Given the description of an element on the screen output the (x, y) to click on. 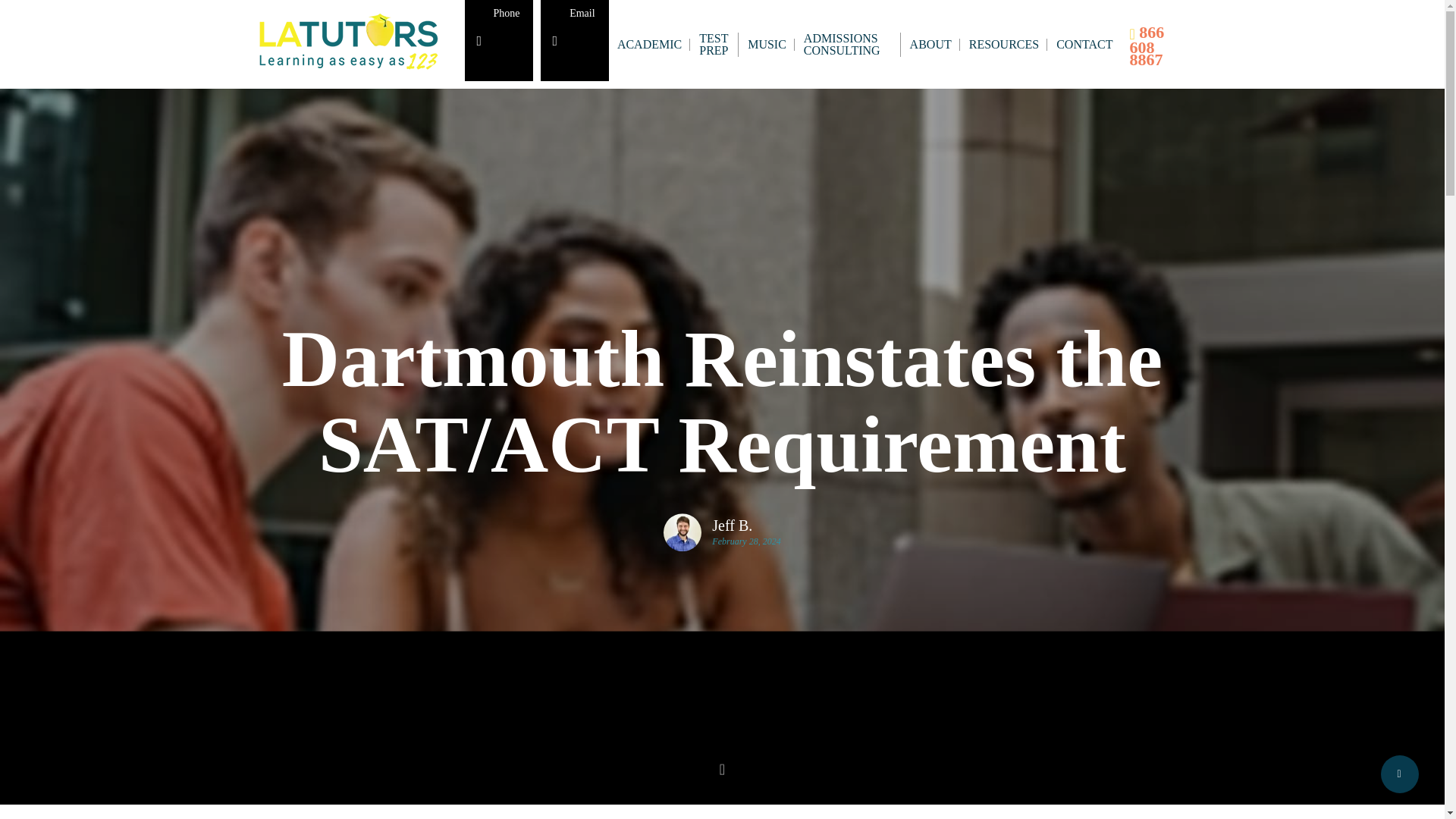
MUSIC (766, 43)
ACADEMIC (650, 43)
ADMISSIONS CONSULTING (848, 43)
Posts by Jeff B. (745, 525)
TEST PREP (714, 43)
